Given the description of an element on the screen output the (x, y) to click on. 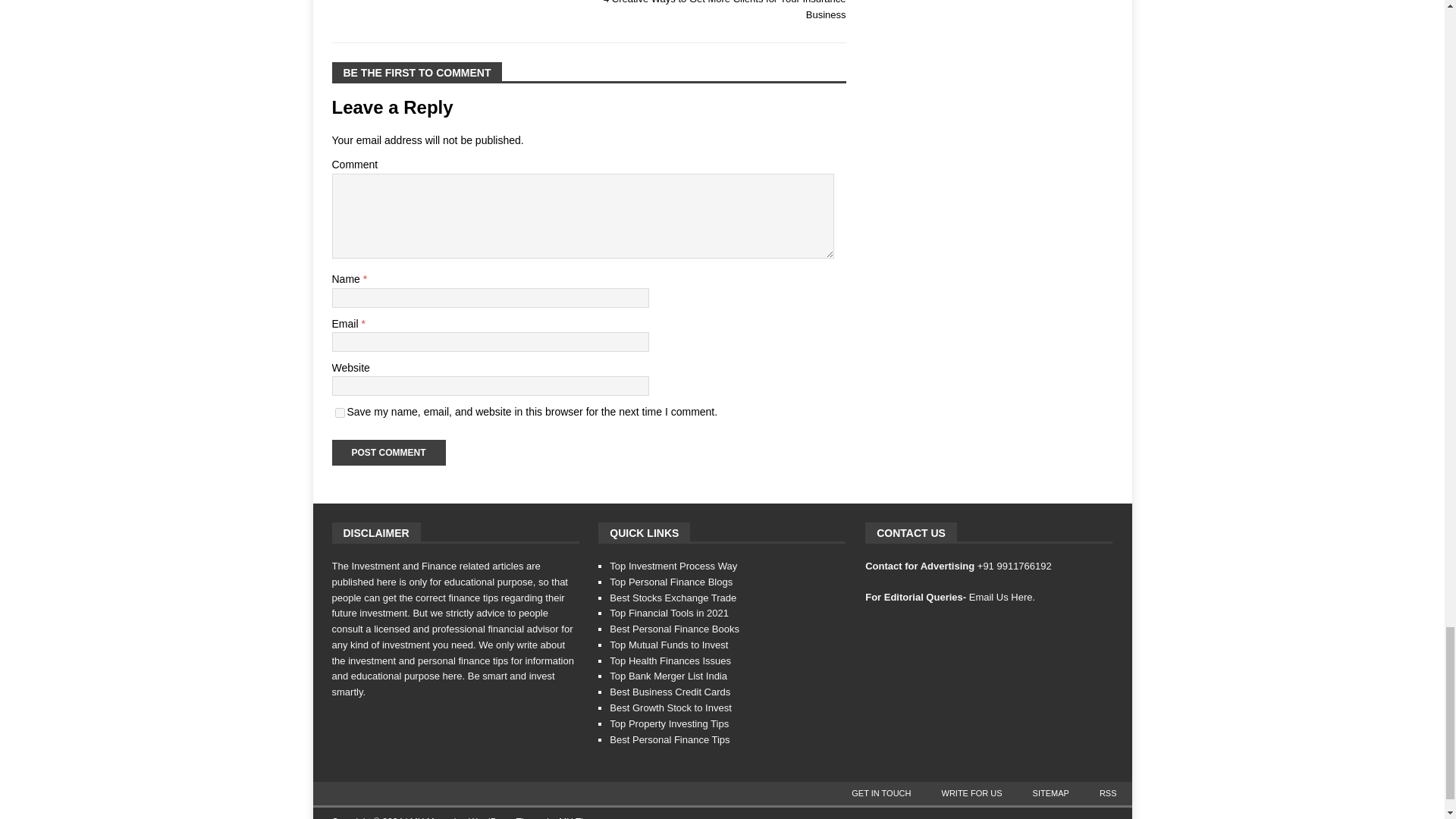
Post Comment (388, 452)
yes (339, 412)
